Given the description of an element on the screen output the (x, y) to click on. 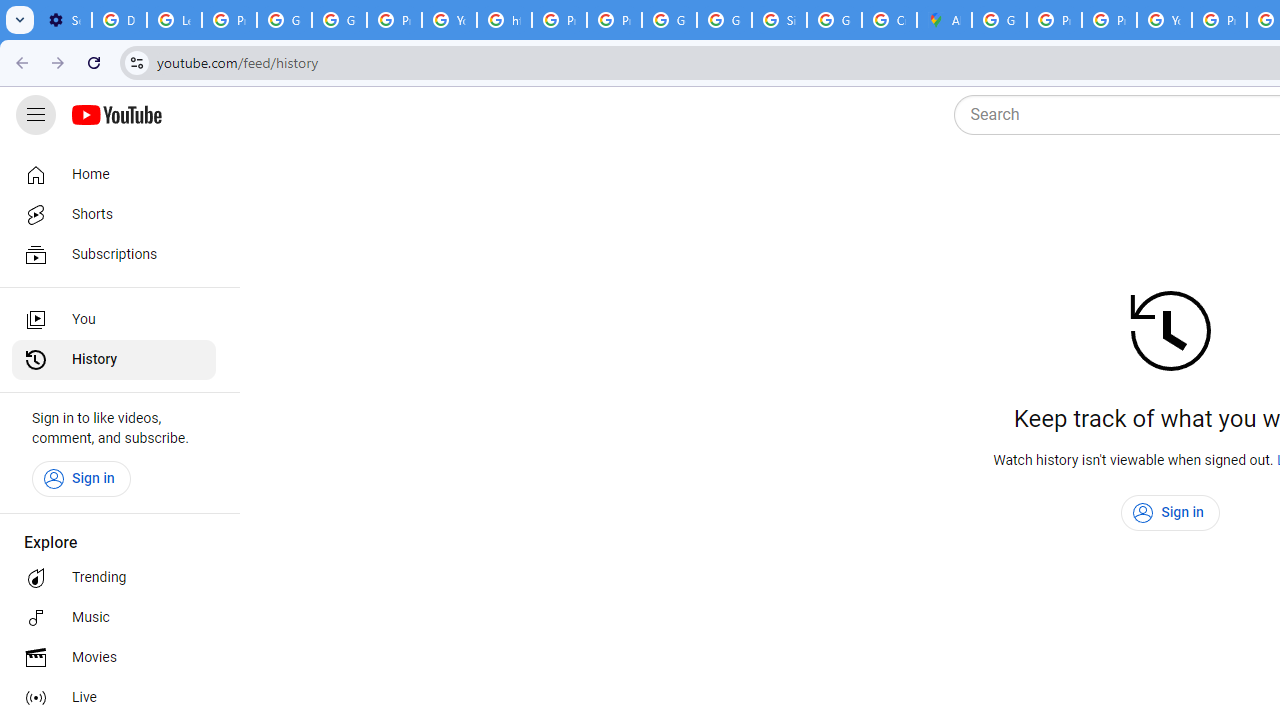
Sign in - Google Accounts (779, 20)
YouTube (1163, 20)
Create your Google Account (888, 20)
Subscriptions (113, 254)
